Given the description of an element on the screen output the (x, y) to click on. 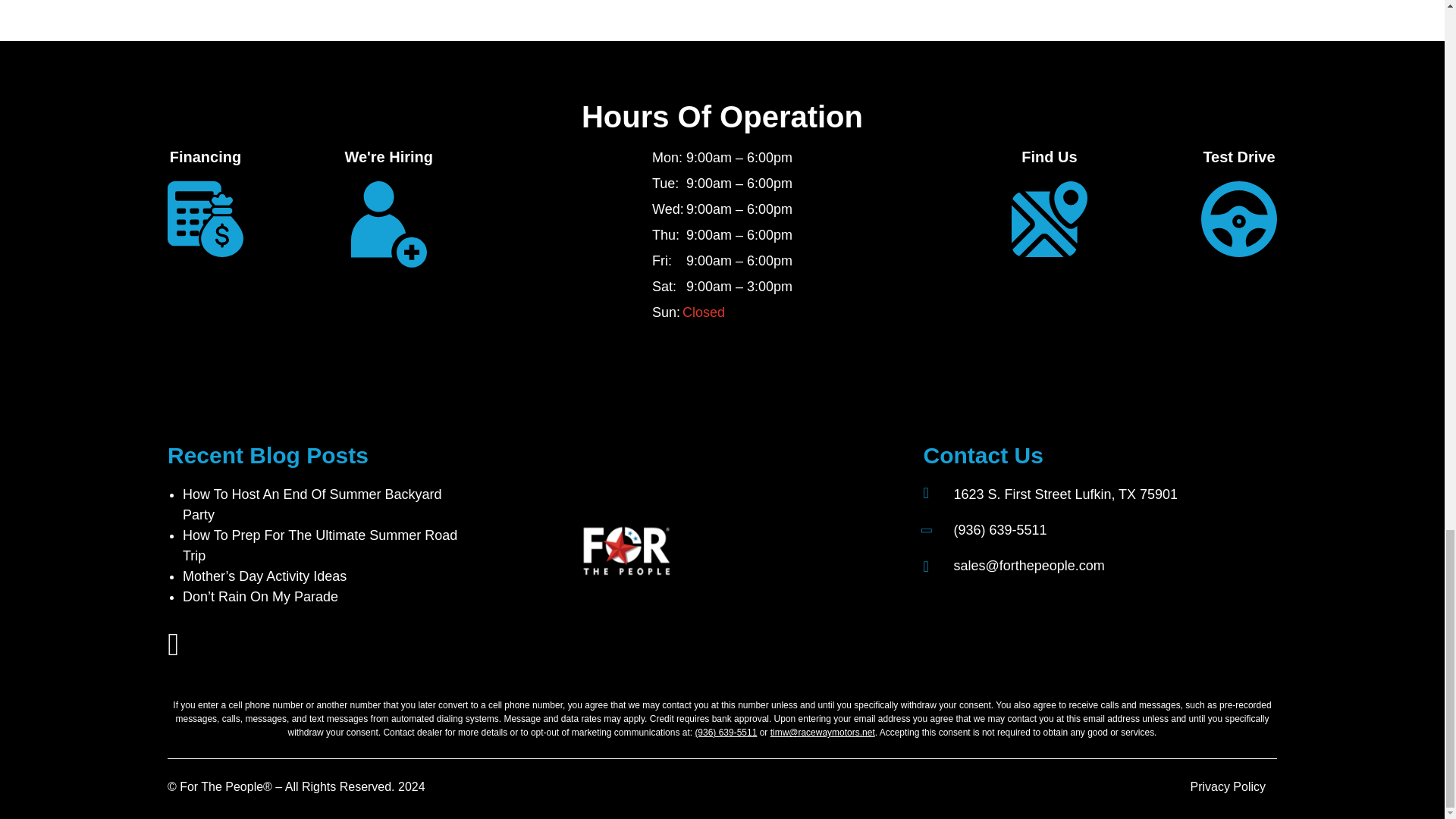
How To Host An End Of Summer Backyard Party (312, 504)
Raceway Motors (659, 551)
Permalink to How To Prep For The Ultimate Summer Road Trip (320, 545)
Permalink to How To Host An End Of Summer Backyard Party (312, 504)
How To Prep For The Ultimate Summer Road Trip (320, 545)
1623 S. First Street Lufkin, TX 75901 (1065, 494)
